Given the description of an element on the screen output the (x, y) to click on. 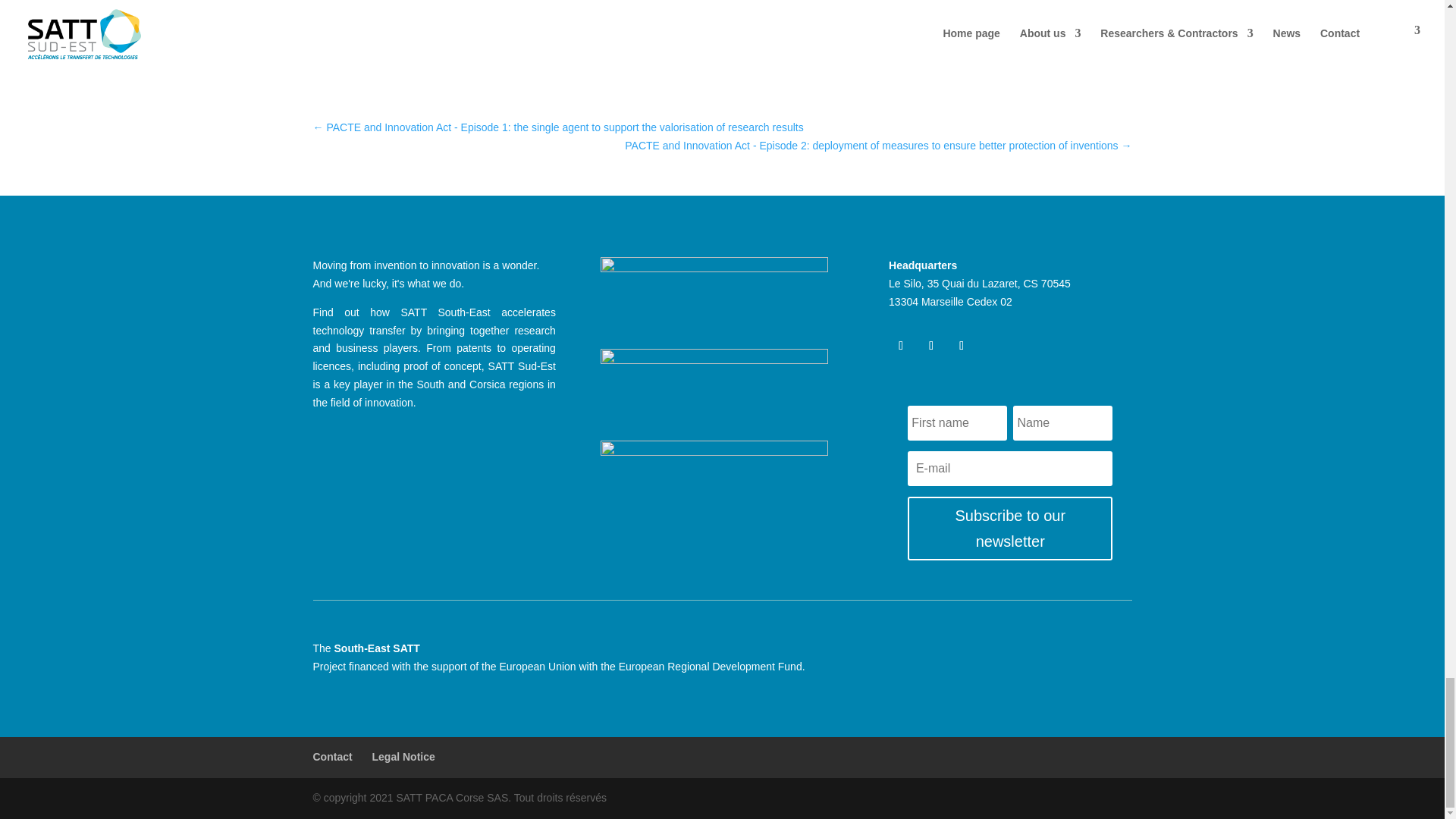
Follow on LinkedIn (900, 345)
Suivez sur Instagram (961, 345)
Follow on Youtube (930, 345)
